Given the description of an element on the screen output the (x, y) to click on. 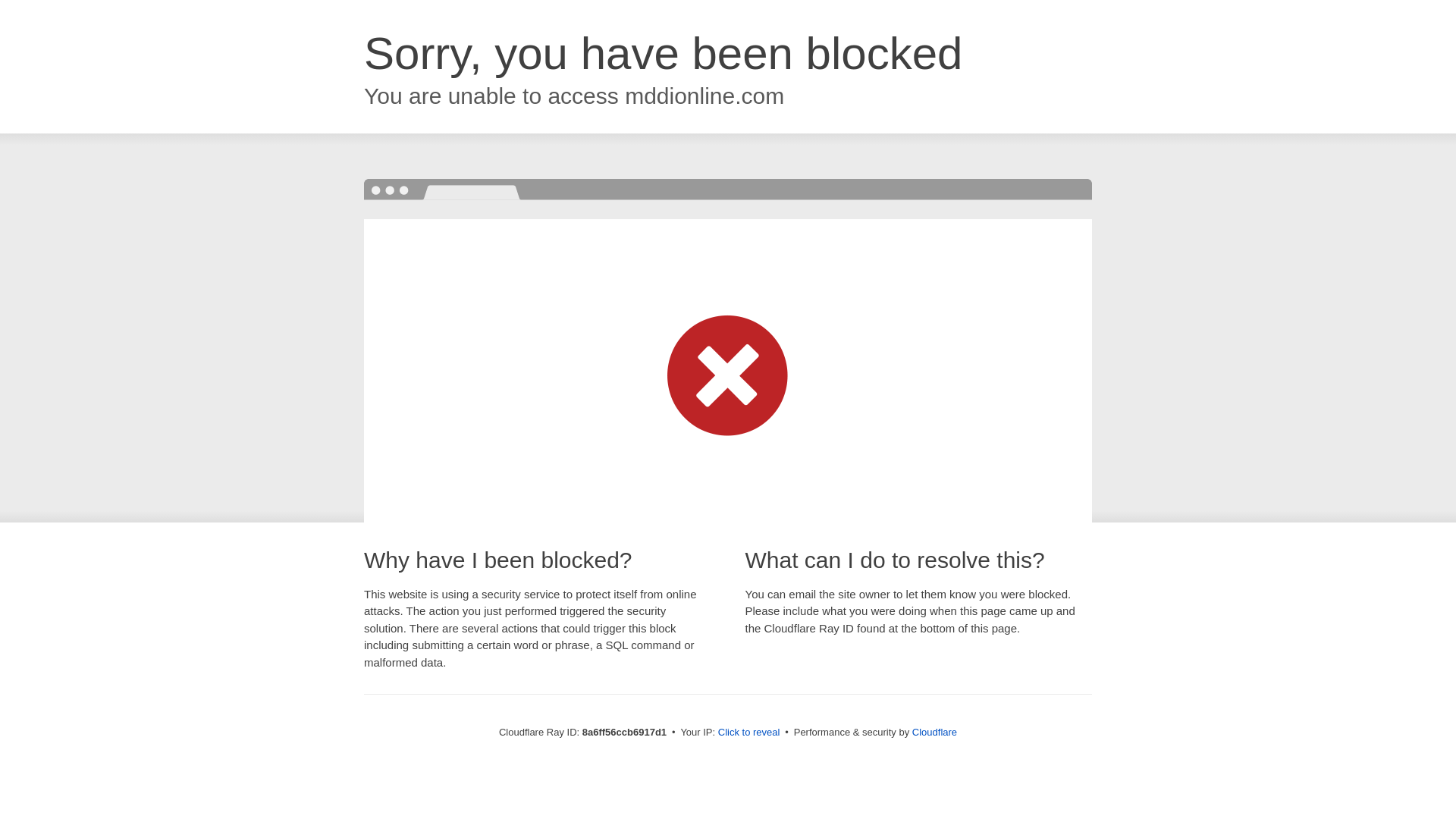
Click to reveal (748, 732)
Cloudflare (934, 731)
